Given the description of an element on the screen output the (x, y) to click on. 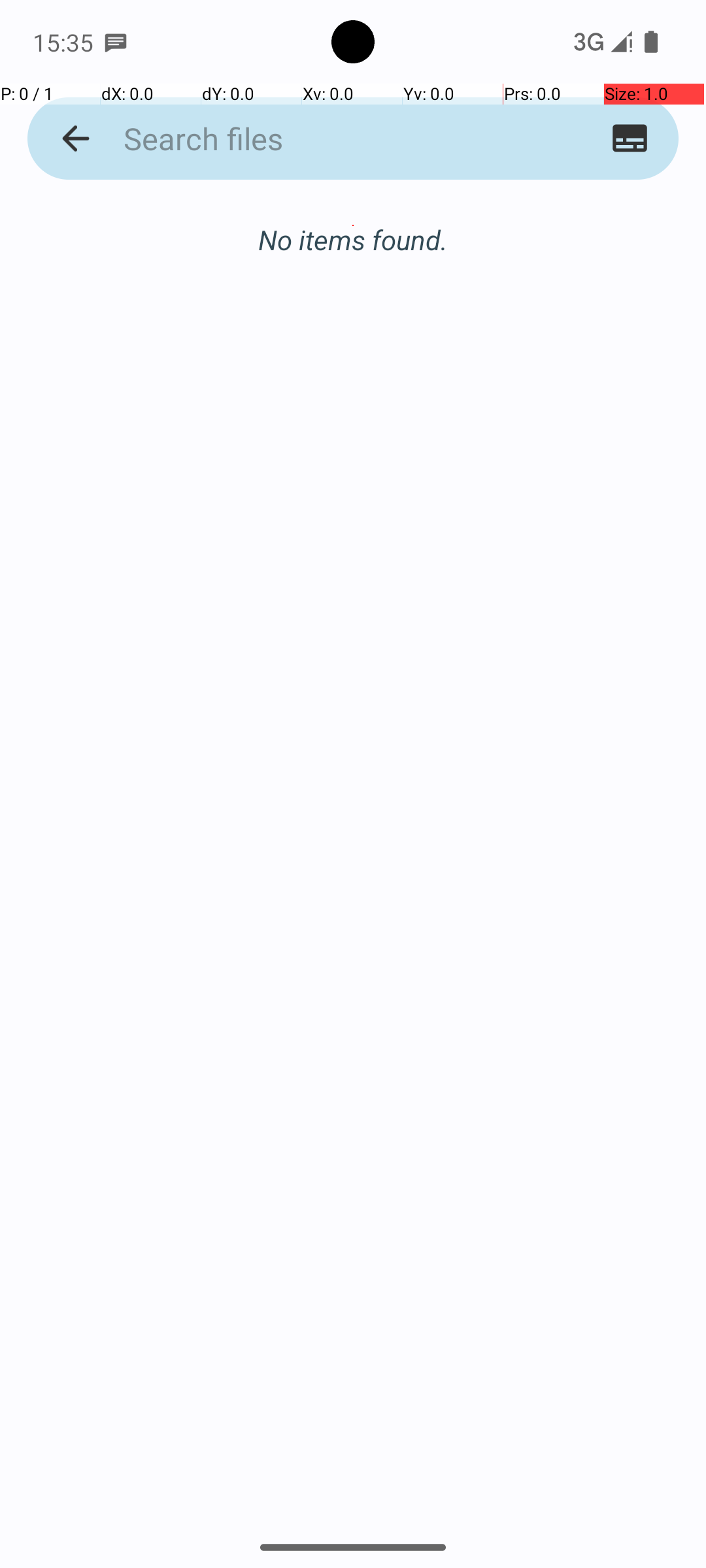
No items found. Element type: android.widget.TextView (353, 225)
Search files Element type: android.widget.EditText (328, 138)
Toggle filename visibility Element type: android.widget.Button (629, 138)
